Given the description of an element on the screen output the (x, y) to click on. 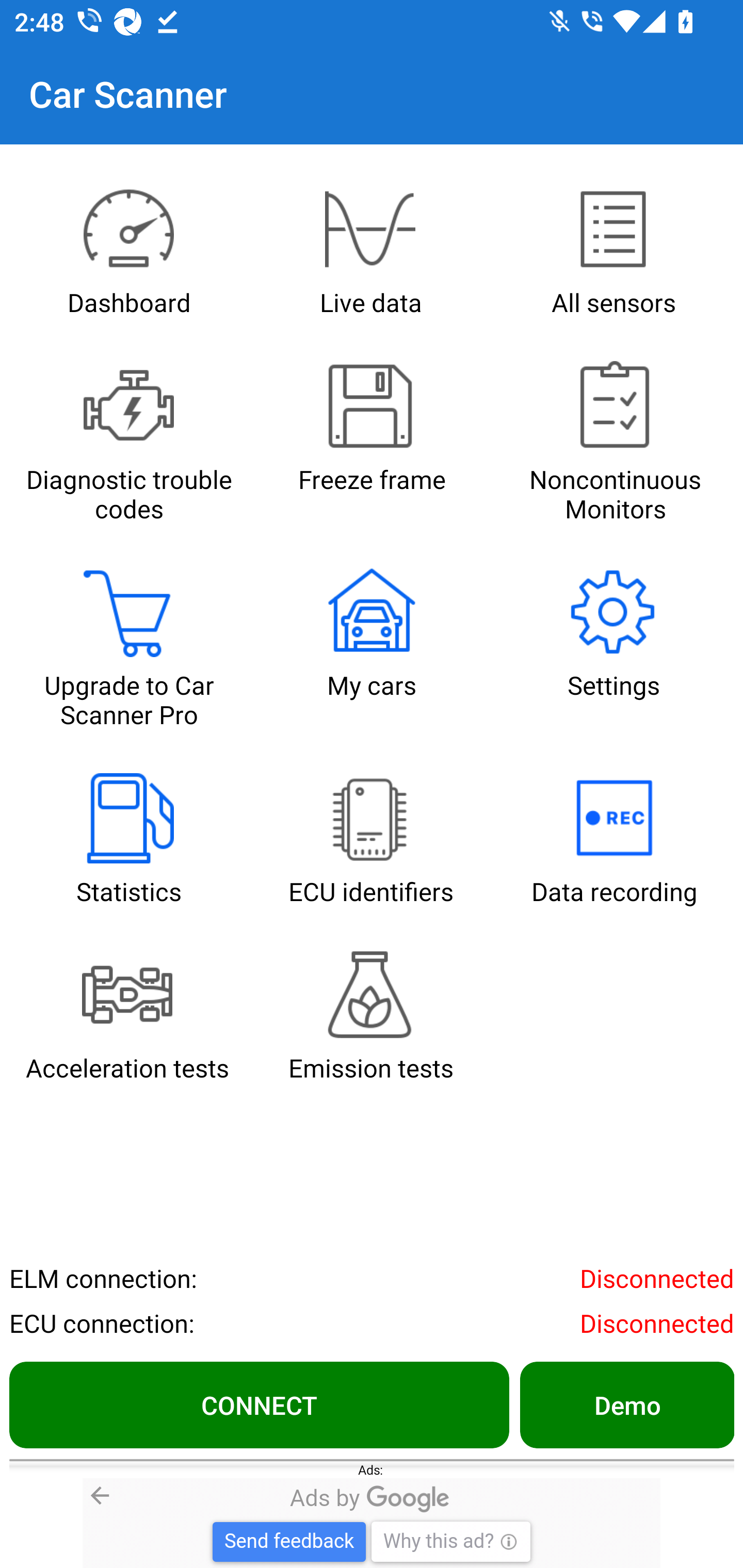
CONNECT (258, 1404)
Demo (627, 1404)
